Given the description of an element on the screen output the (x, y) to click on. 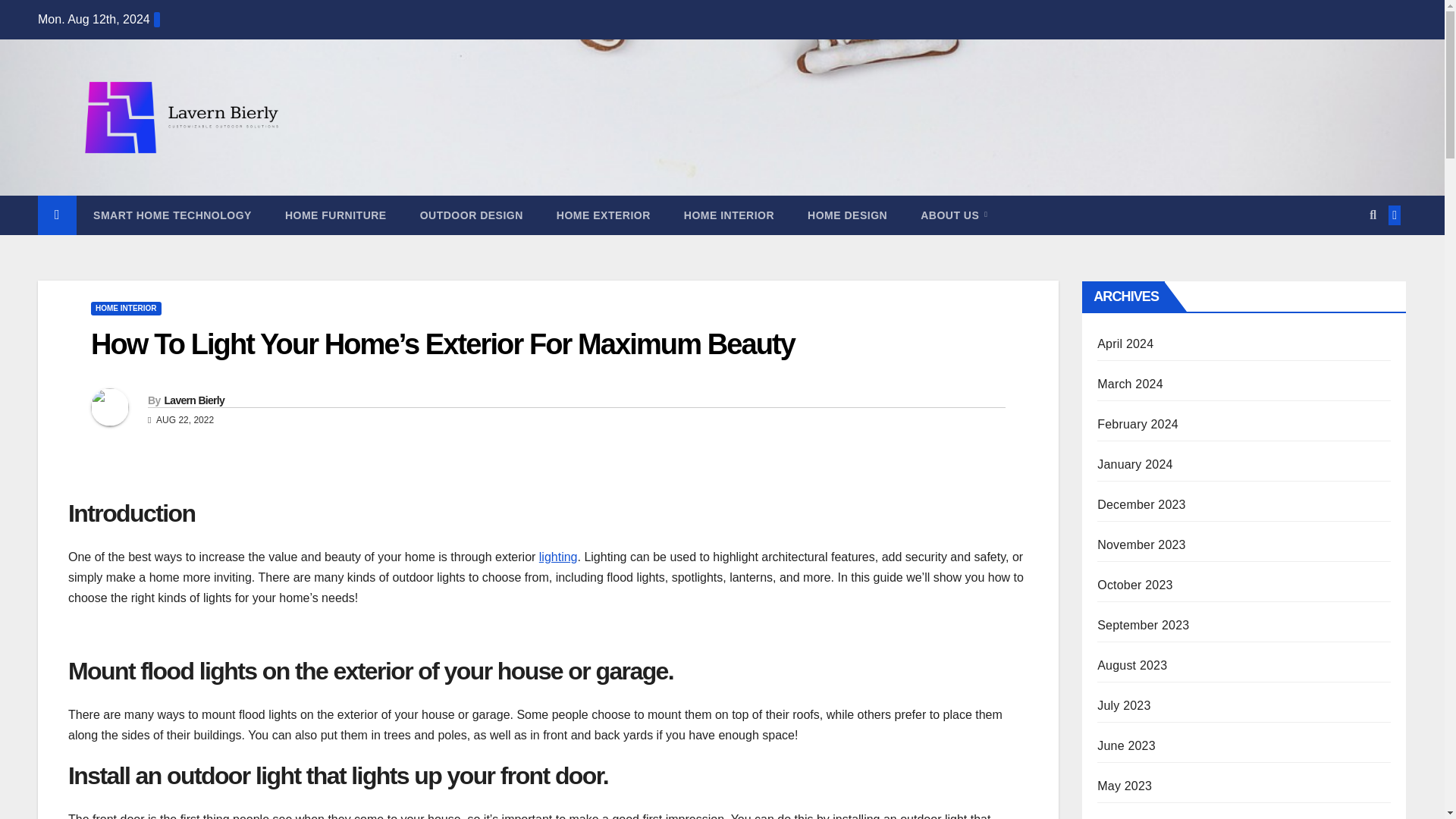
HOME INTERIOR (728, 215)
Outdoor Design (471, 215)
Home Interior (728, 215)
OUTDOOR DESIGN (471, 215)
HOME INTERIOR (125, 308)
HOME FURNITURE (335, 215)
About Us (954, 215)
HOME EXTERIOR (603, 215)
ABOUT US (954, 215)
Home Exterior (603, 215)
